Given the description of an element on the screen output the (x, y) to click on. 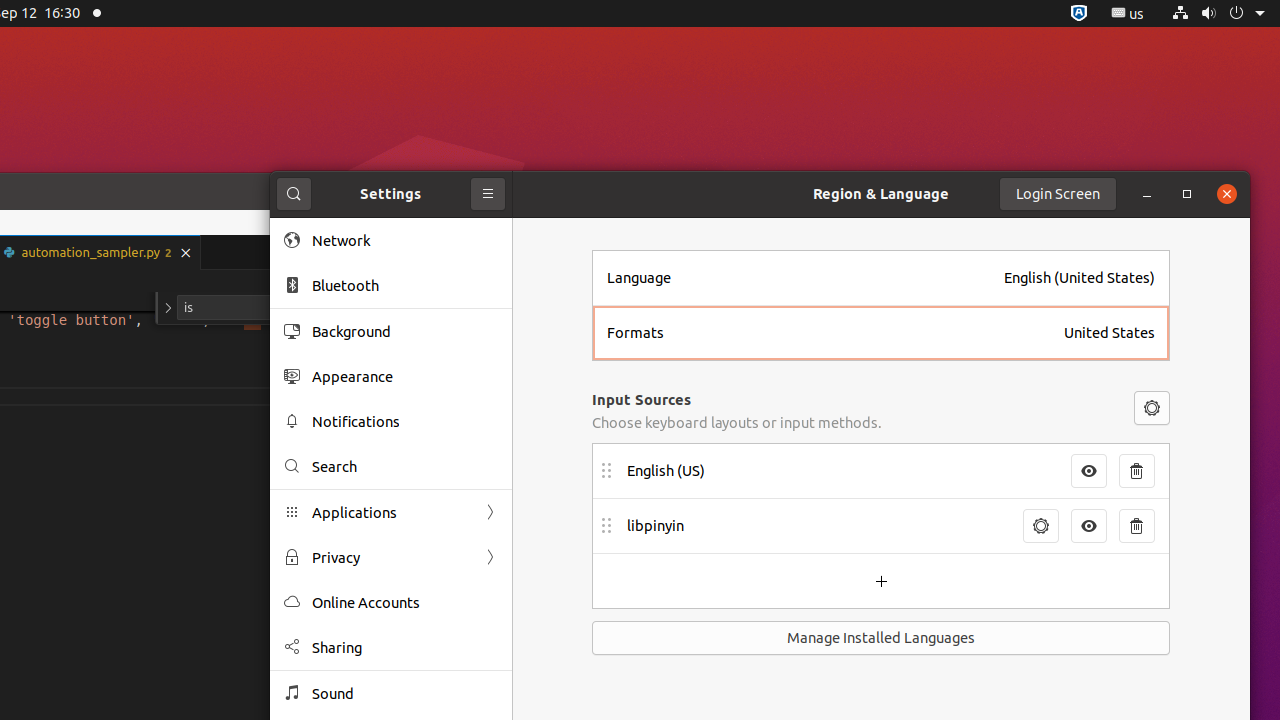
Search Element type: label (405, 466)
Sound Element type: label (405, 693)
Forward Element type: icon (490, 557)
Bluetooth Element type: label (405, 285)
Privacy Element type: label (391, 557)
